Given the description of an element on the screen output the (x, y) to click on. 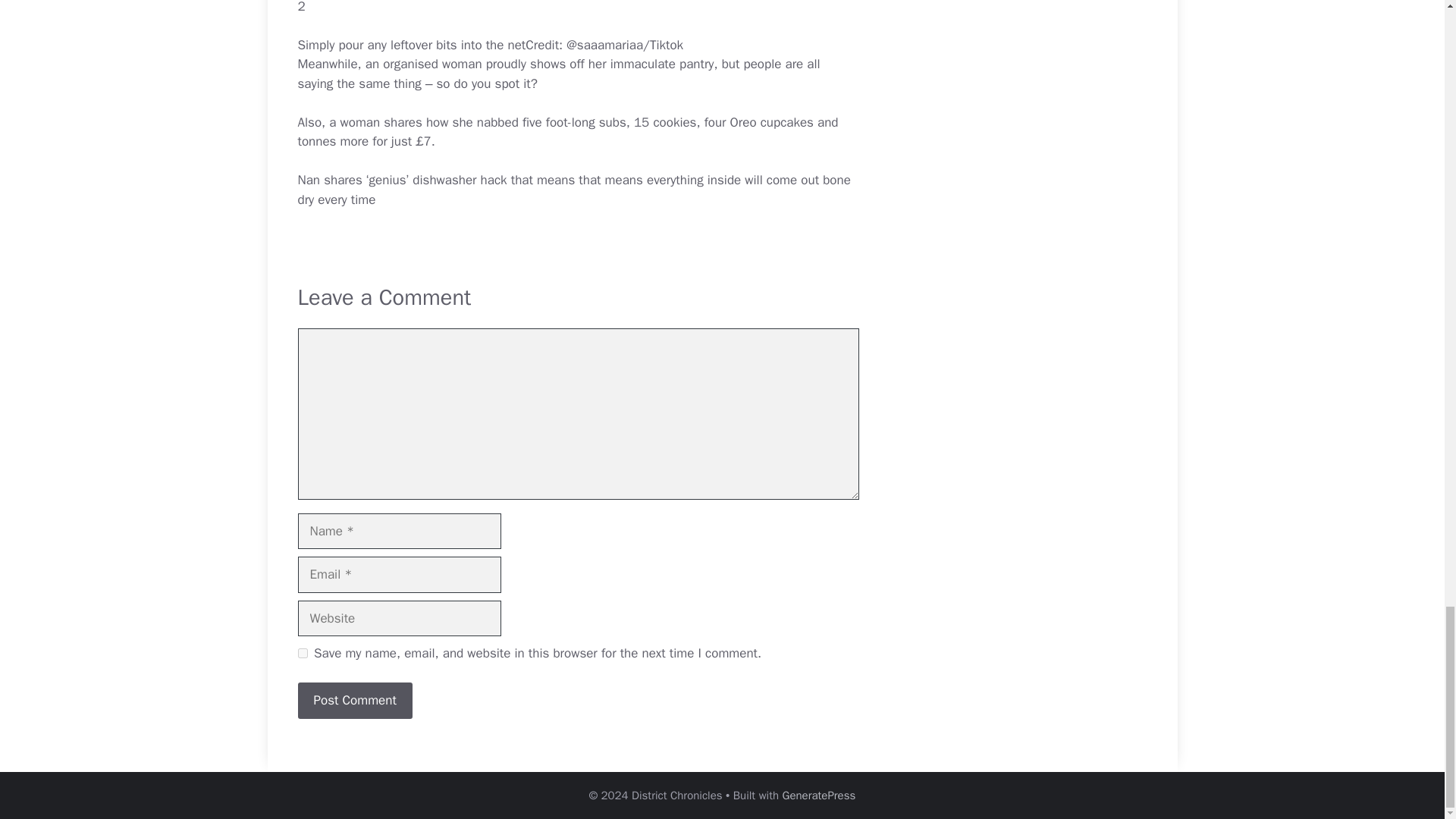
yes (302, 653)
Post Comment (354, 700)
GeneratePress (819, 795)
Post Comment (354, 700)
